Given the description of an element on the screen output the (x, y) to click on. 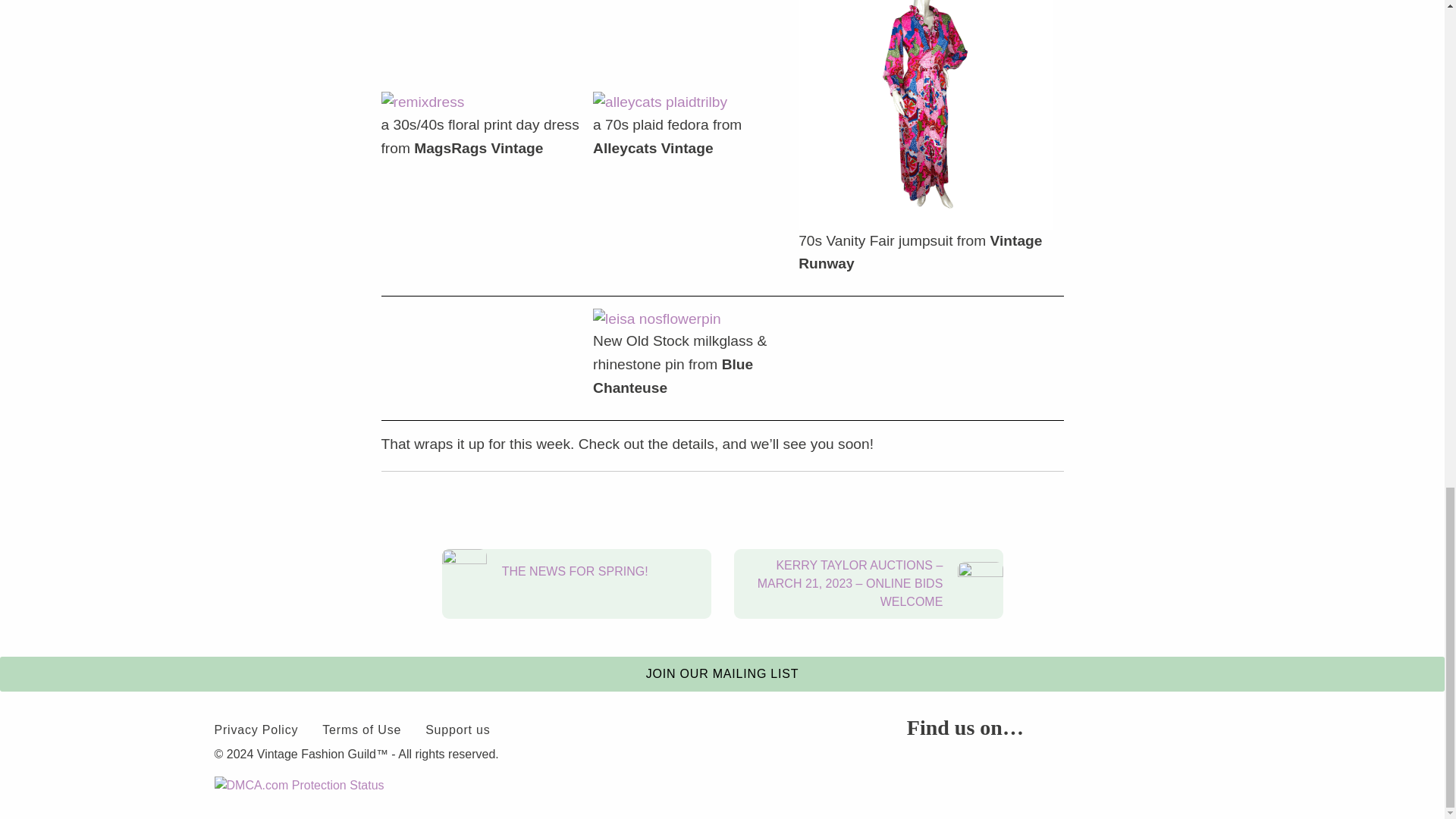
DMCA.com Protection Status (299, 784)
